Given the description of an element on the screen output the (x, y) to click on. 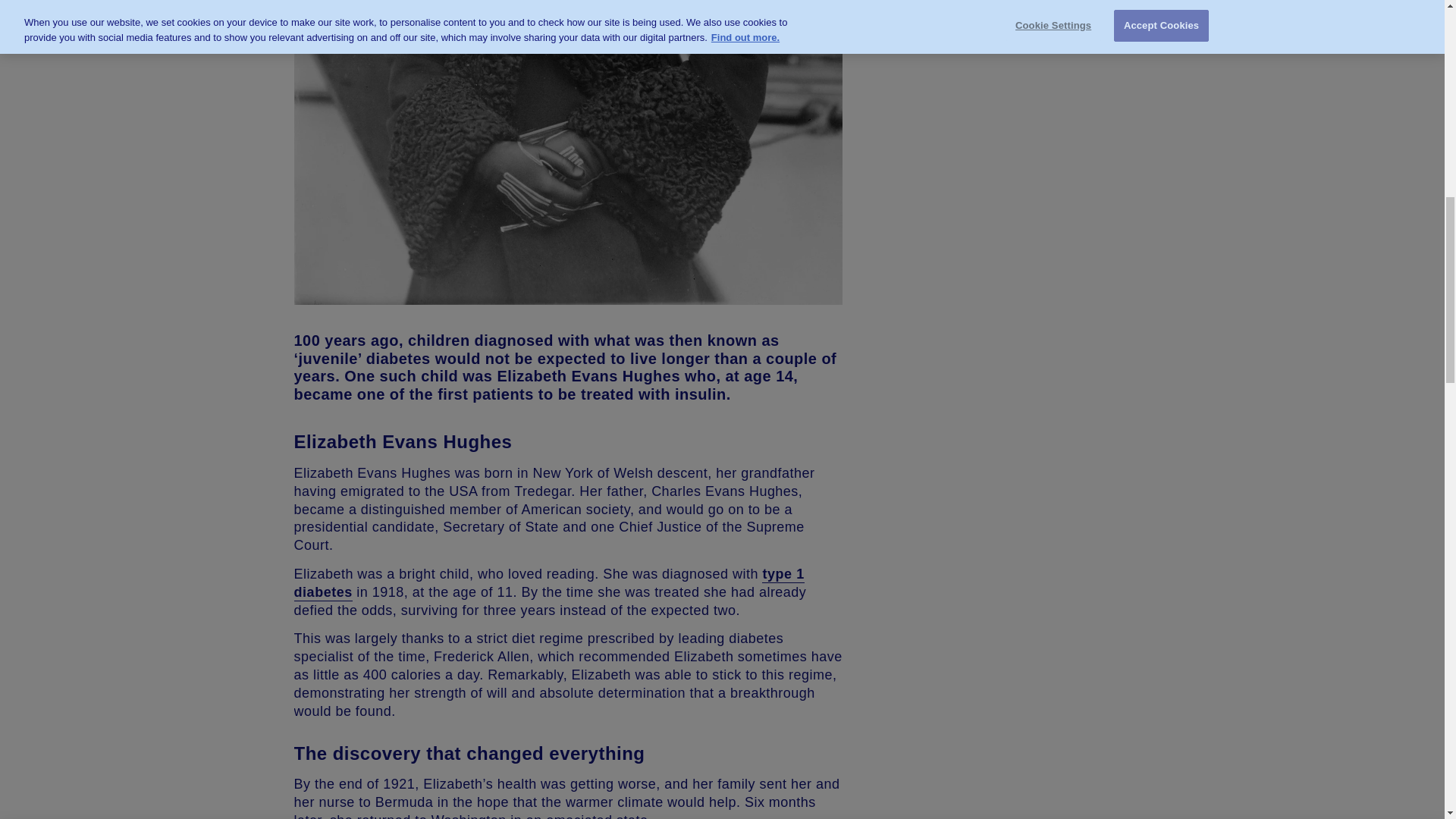
Request your Will guide (1025, 120)
